Given the description of an element on the screen output the (x, y) to click on. 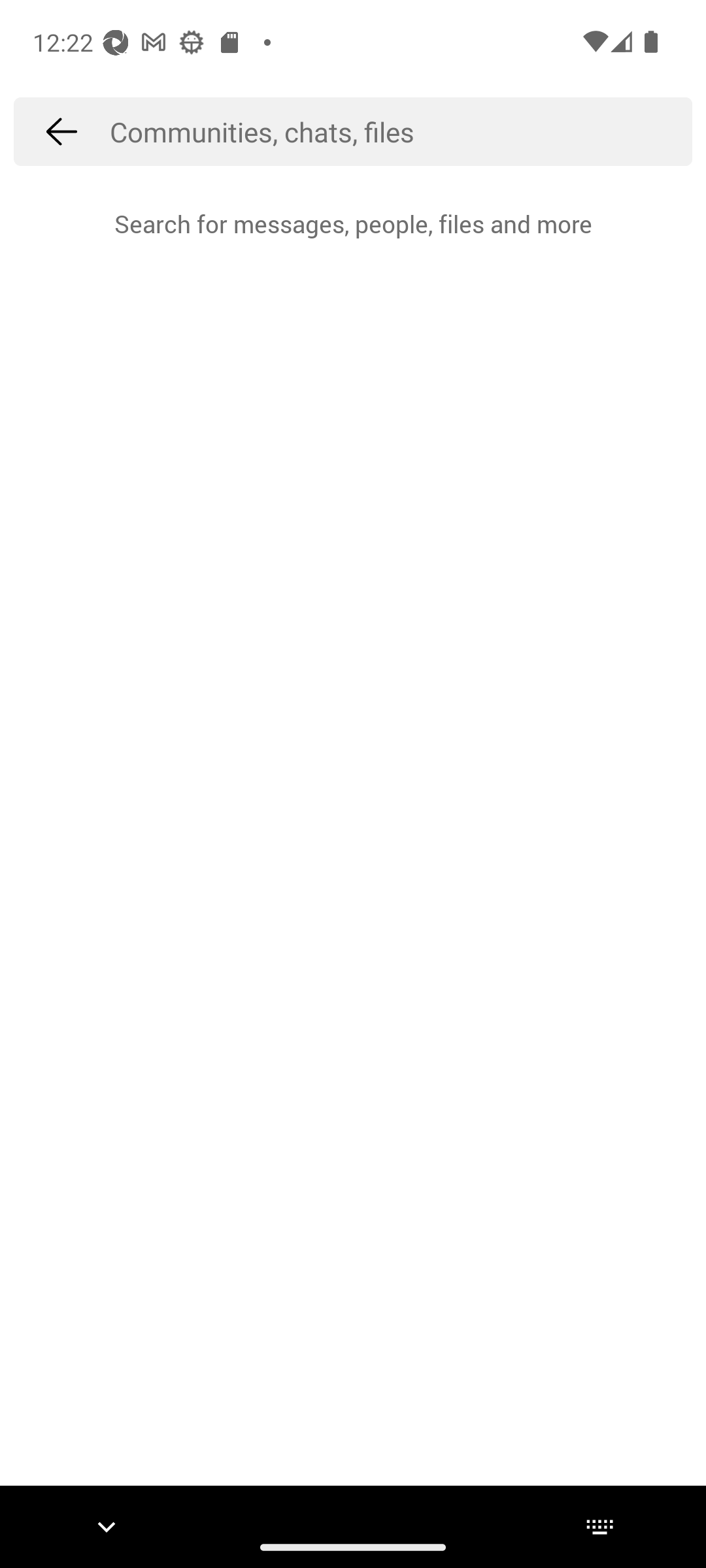
Back (61, 131)
Search for communities, chats, files and more (401, 131)
